Given the description of an element on the screen output the (x, y) to click on. 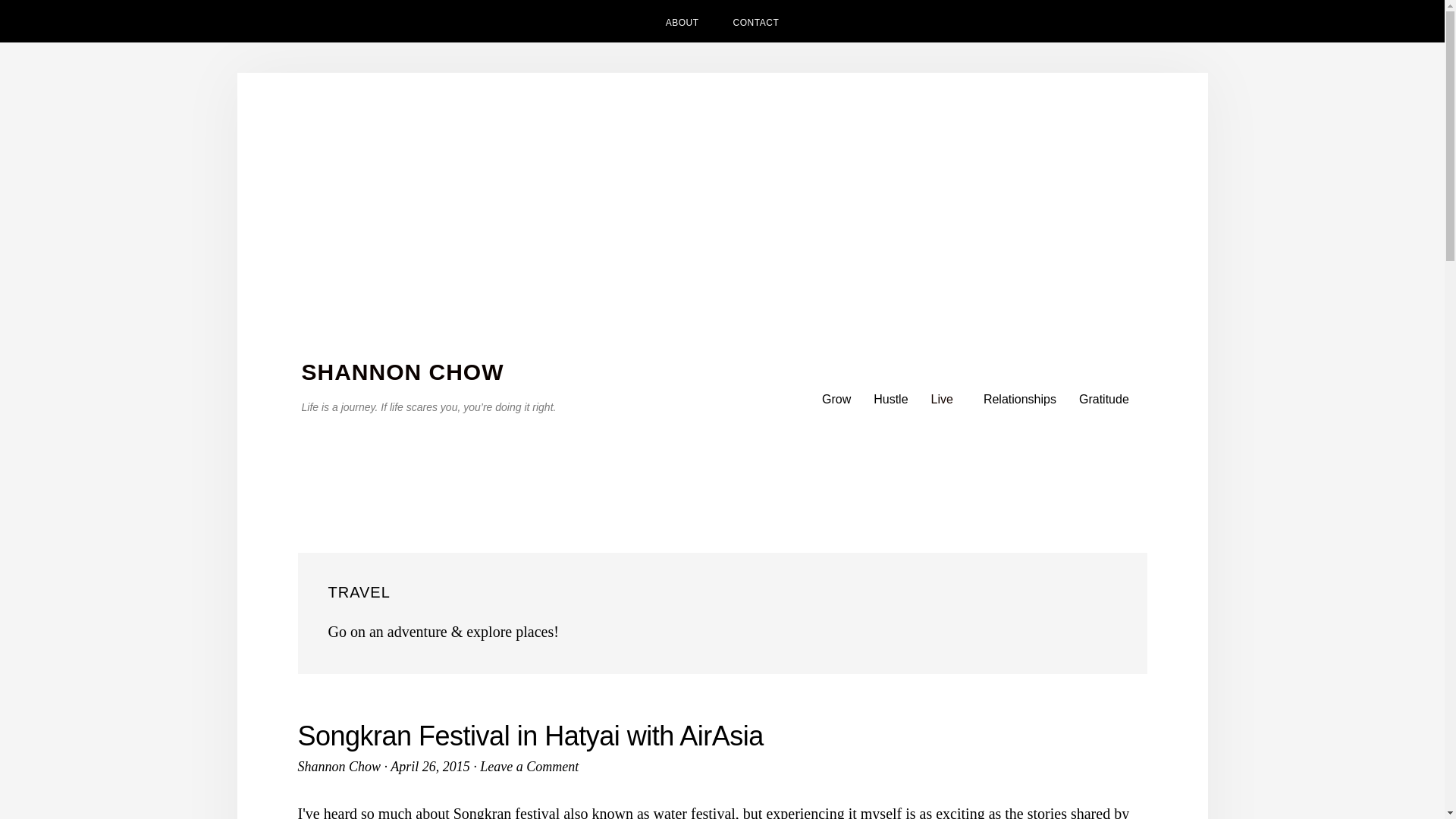
Leave a Comment (529, 766)
Hustle (889, 399)
Grow (835, 399)
Songkran Festival in Hatyai with AirAsia (529, 735)
Shannon Chow (338, 766)
CONTACT (755, 21)
Live (946, 399)
Gratitude (1103, 399)
Relationships (1019, 399)
ABOUT (682, 21)
